Given the description of an element on the screen output the (x, y) to click on. 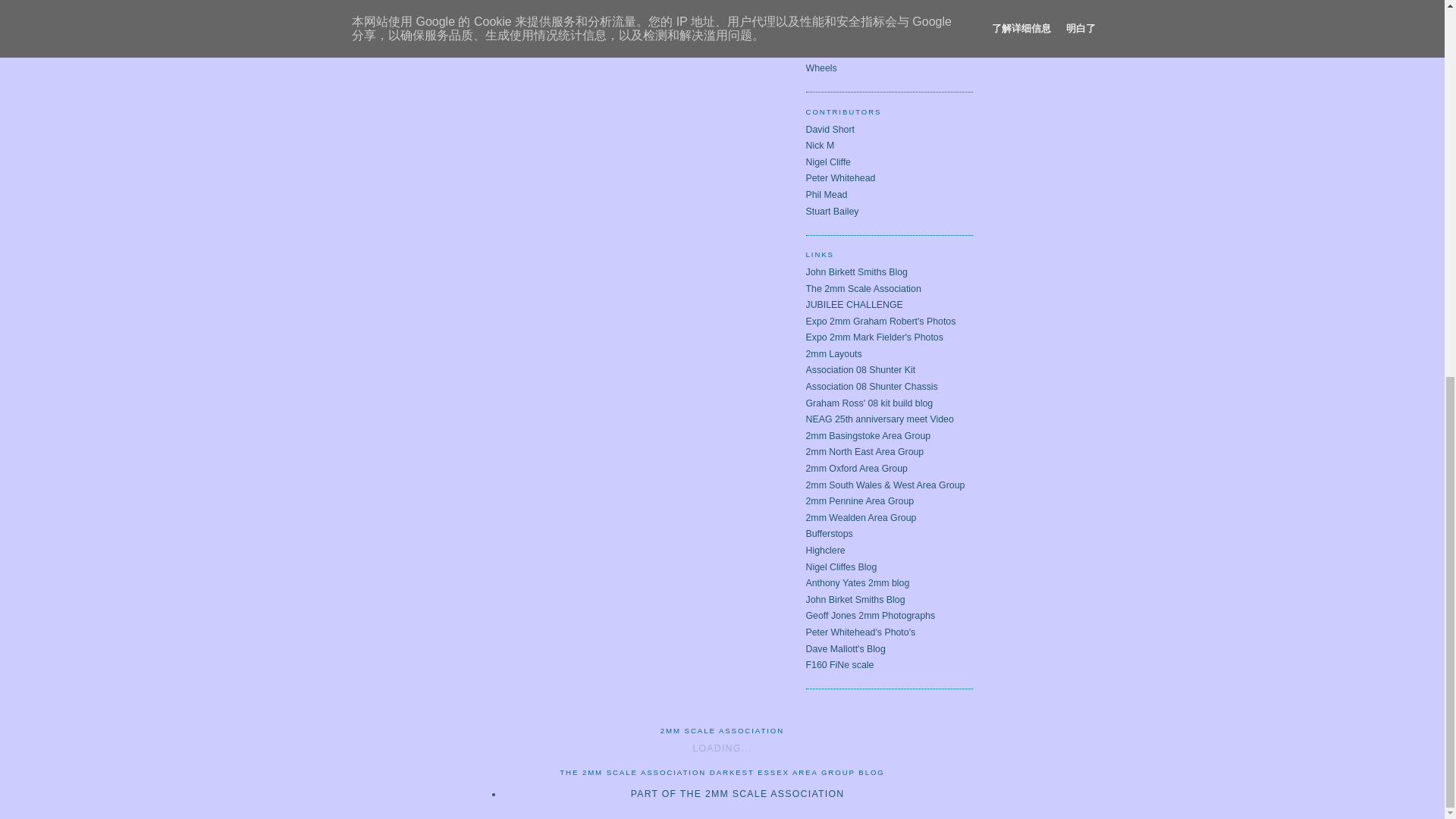
Expo 2mm Mark Fielder's Photos (873, 337)
Nigel Cliffe (827, 162)
Marks Quay (830, 19)
Peter Whitehead (840, 177)
Expo 2mm Graham Robert's Photos (880, 321)
Minibox (821, 51)
jubilee challenge (840, 4)
Nick M (819, 145)
Phil Mead (826, 194)
Stuart Bailey (832, 211)
The 2mm Scale Association (862, 288)
John Birkett Smiths Blog (856, 271)
David Short (829, 129)
2mm Layouts (833, 353)
Association 08 Shunter Kit (860, 369)
